Given the description of an element on the screen output the (x, y) to click on. 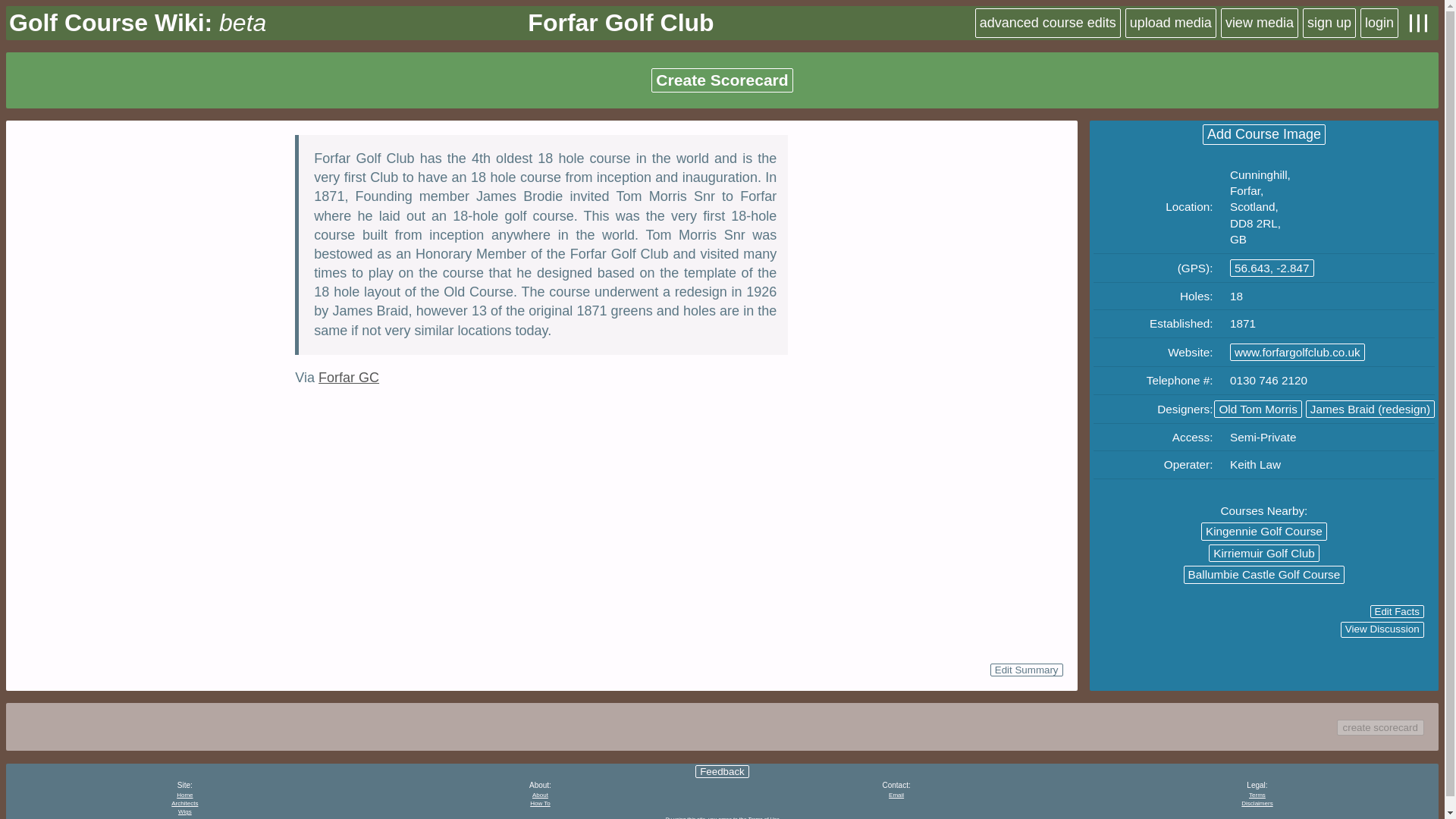
Forfar GC (348, 377)
Add Course Image (1263, 134)
upload media (1170, 22)
56.643, -2.847 (1272, 267)
Terms (1257, 795)
Disclaimers (1256, 803)
Edit Facts (1396, 611)
www.forfargolfclub.co.uk (1297, 352)
How To (539, 803)
Edit Summary (1026, 669)
advanced course edits (1048, 22)
Forfar Golf Club (620, 22)
Kirriemuir Golf Club (1263, 552)
Feedback (722, 771)
Architects (184, 803)
